Given the description of an element on the screen output the (x, y) to click on. 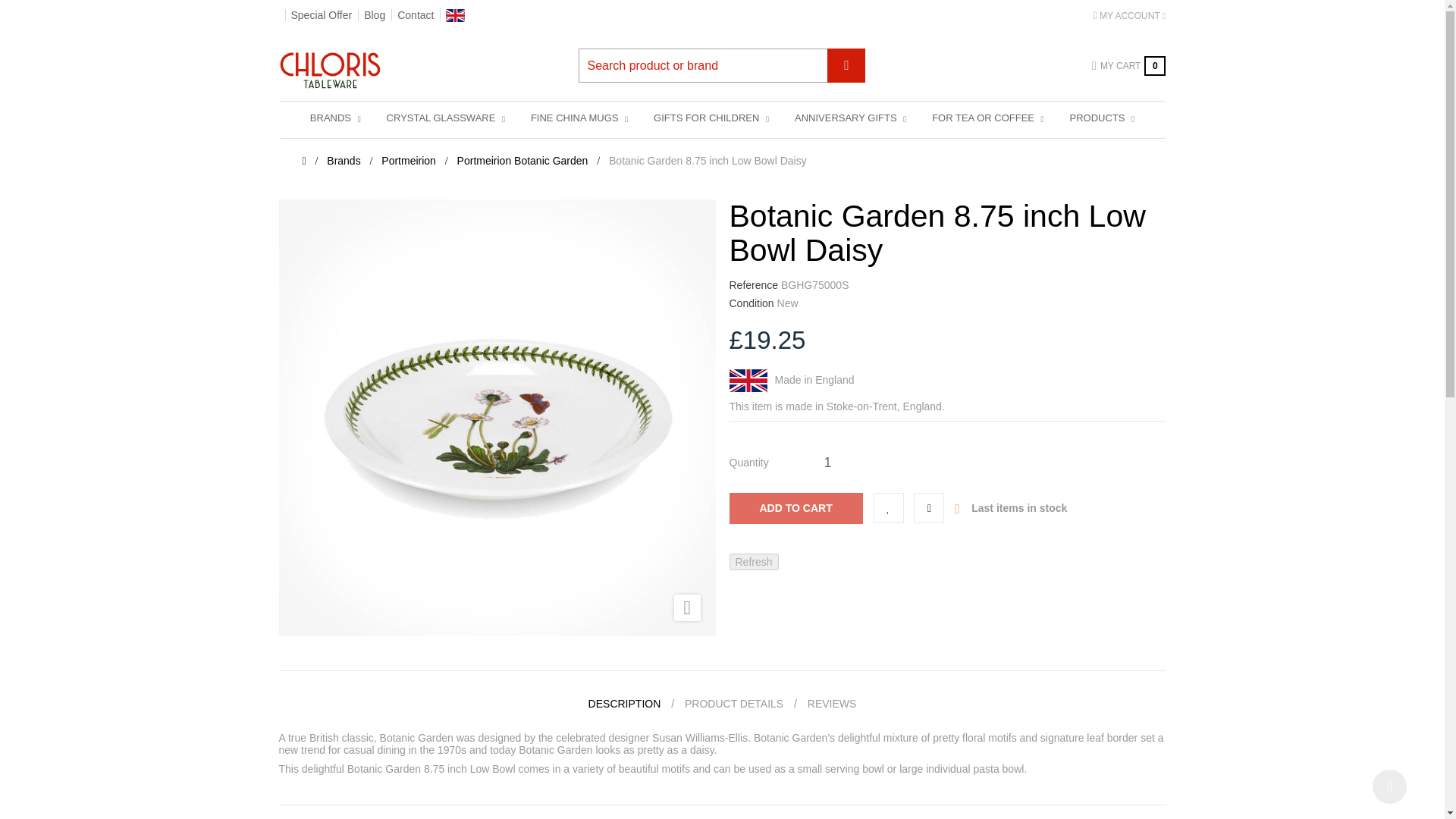
Refresh (753, 561)
MY ACCOUNT (1129, 15)
Contact (415, 15)
CRYSTAL GLASSWARE (445, 118)
Special Offer (321, 15)
BRANDS (335, 118)
1 (827, 462)
Account (1129, 15)
